Given the description of an element on the screen output the (x, y) to click on. 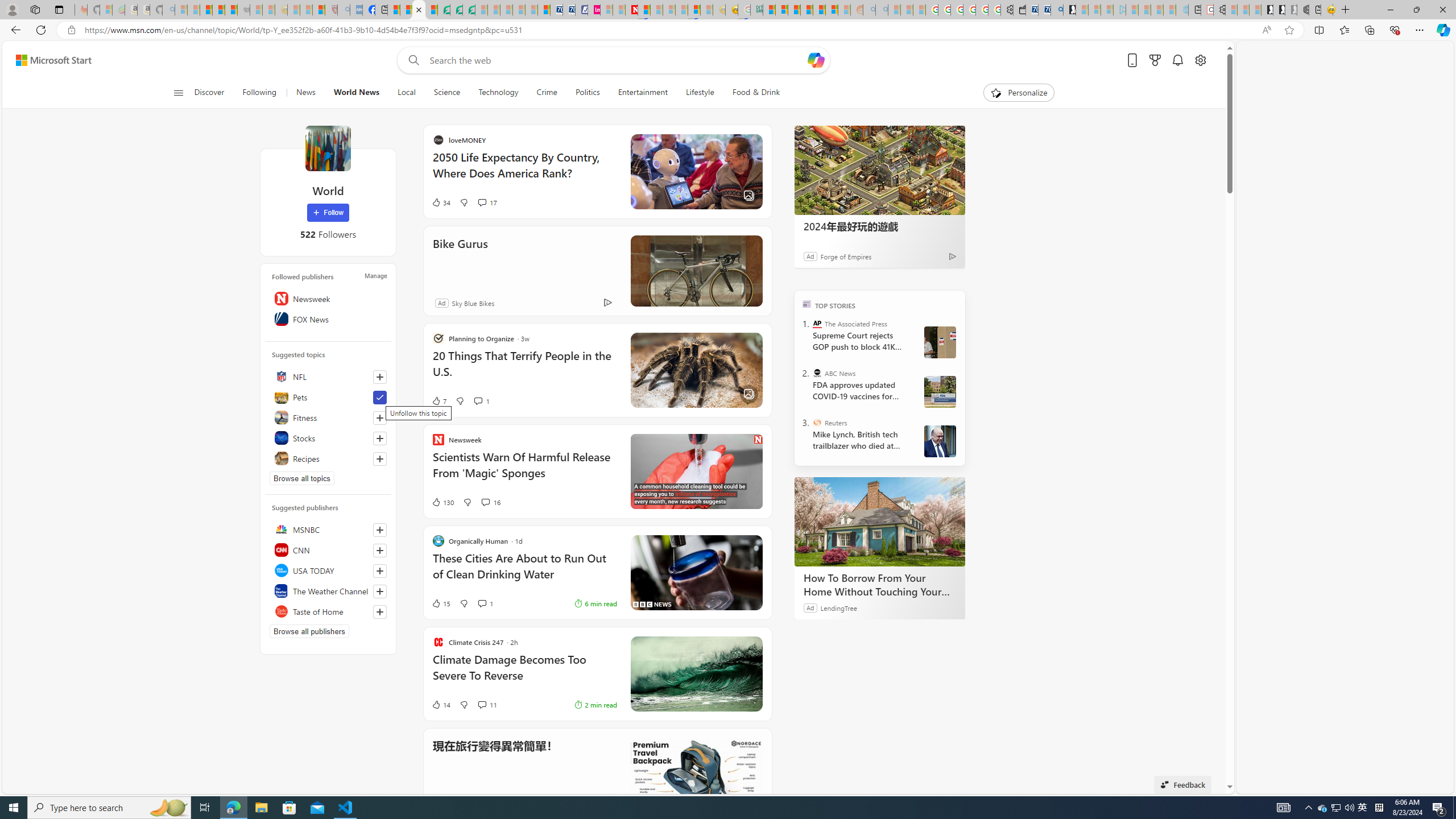
Climate Damage Becomes Too Severe To Reverse (524, 673)
7 Like (547, 400)
View comments 16 Comment (490, 502)
New Report Confirms 2023 Was Record Hot | Watch (230, 9)
NFL (327, 376)
